Given the description of an element on the screen output the (x, y) to click on. 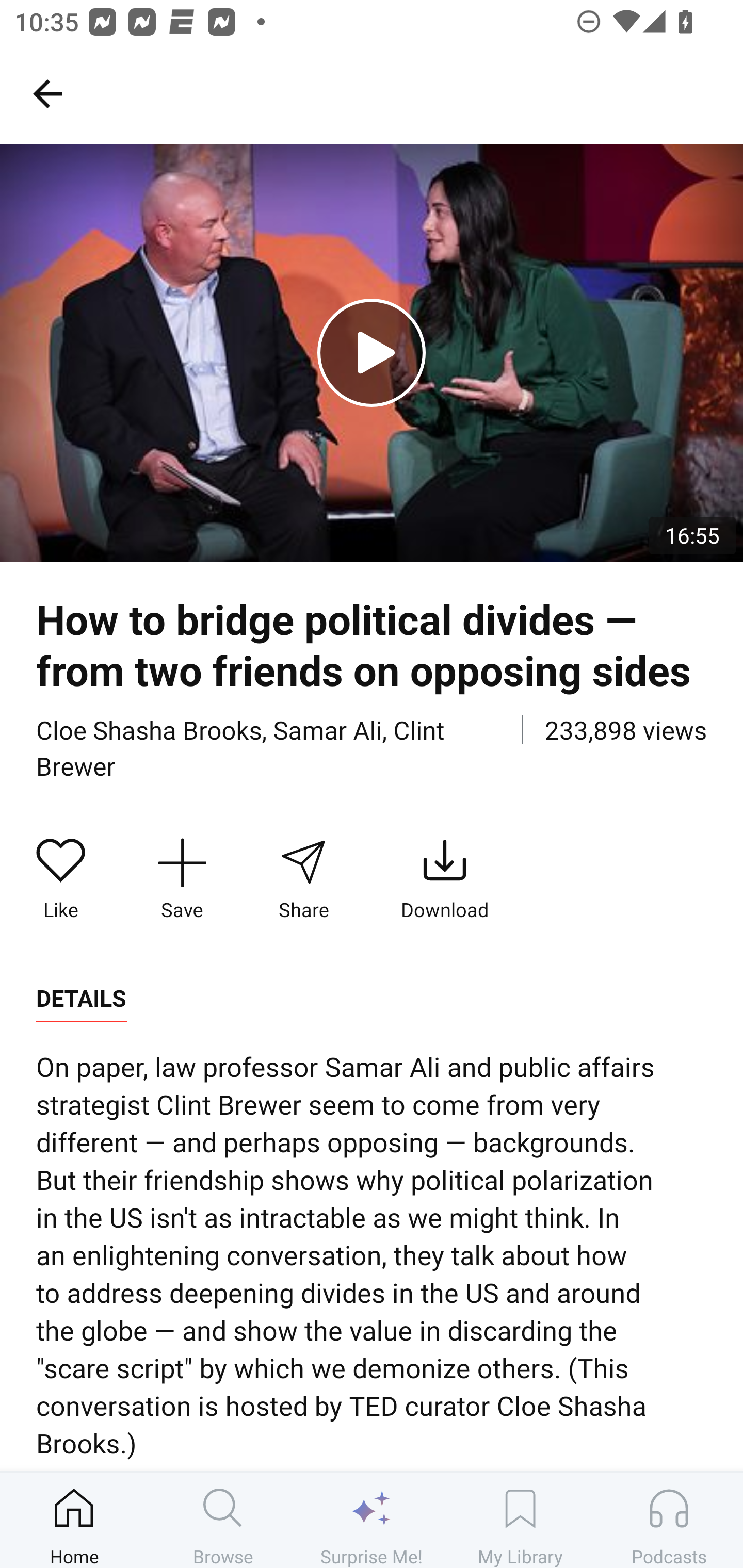
Home, back (47, 92)
Like (60, 879)
Save (181, 879)
Share (302, 879)
Download (444, 879)
DETAILS (80, 998)
Home (74, 1520)
Browse (222, 1520)
Surprise Me! (371, 1520)
My Library (519, 1520)
Podcasts (668, 1520)
